Given the description of an element on the screen output the (x, y) to click on. 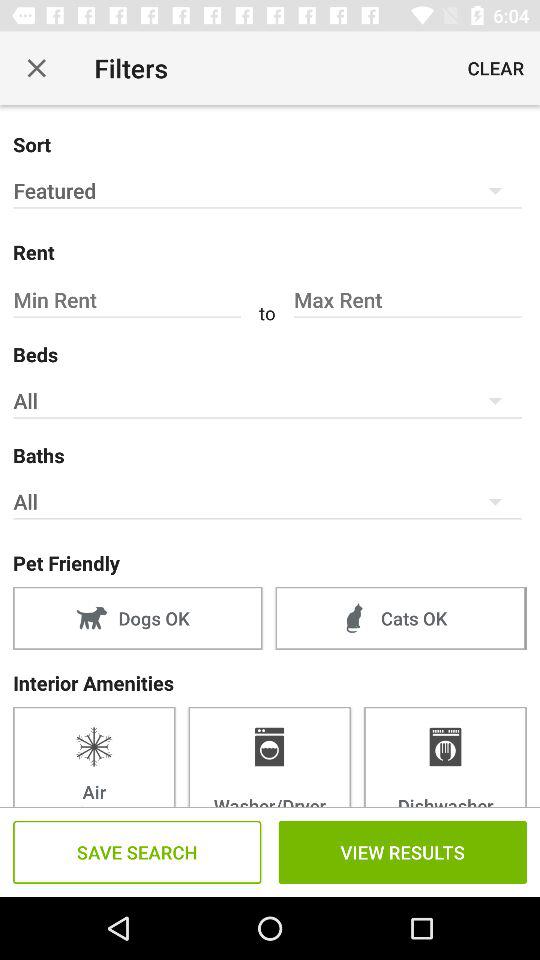
type in minimum rent (129, 300)
